Given the description of an element on the screen output the (x, y) to click on. 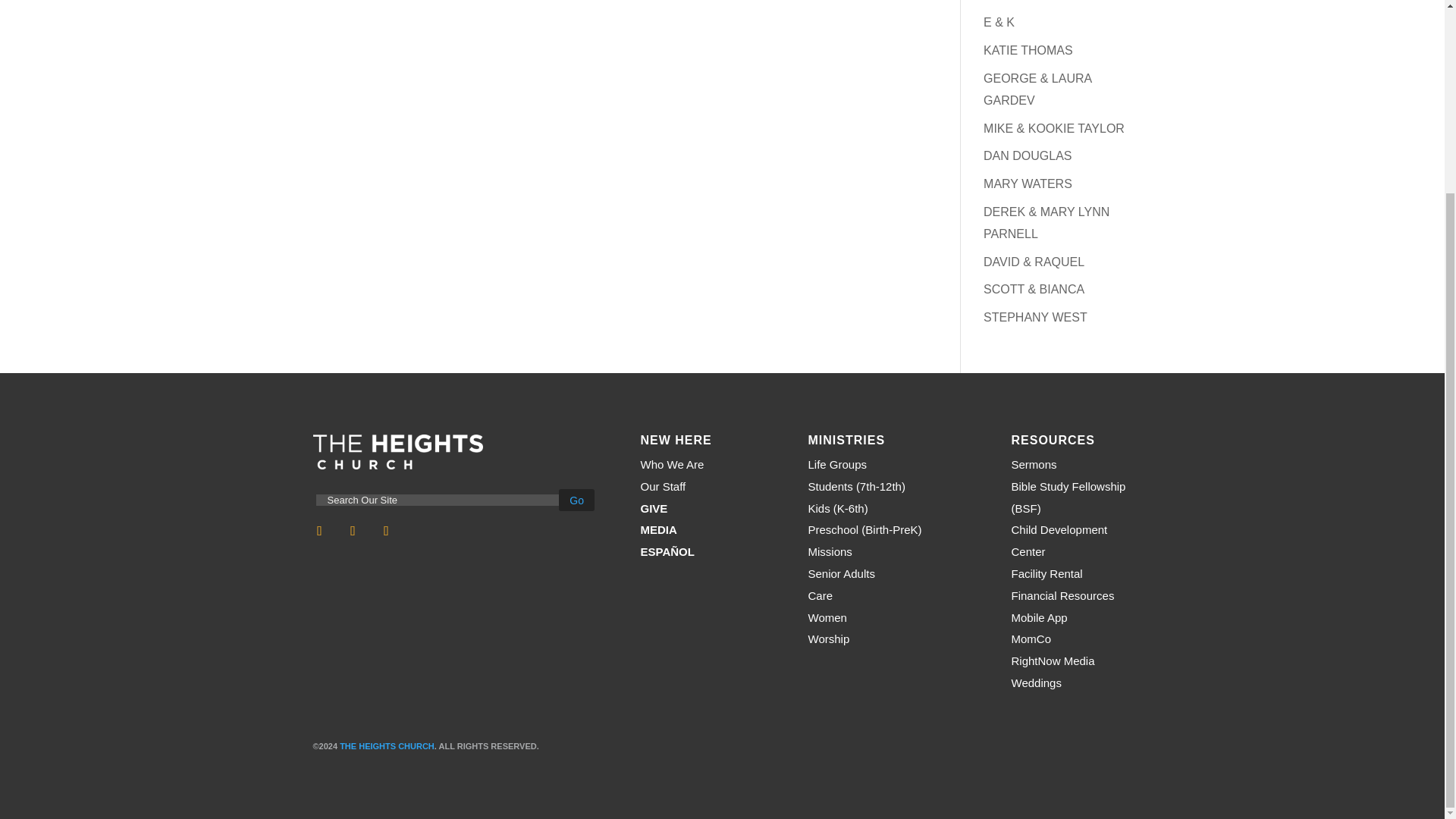
TheHeights-Logo-LeftWordmark-White (398, 451)
Follow on Youtube (386, 530)
Follow on Facebook (319, 530)
Follow on Instagram (352, 530)
